Given the description of an element on the screen output the (x, y) to click on. 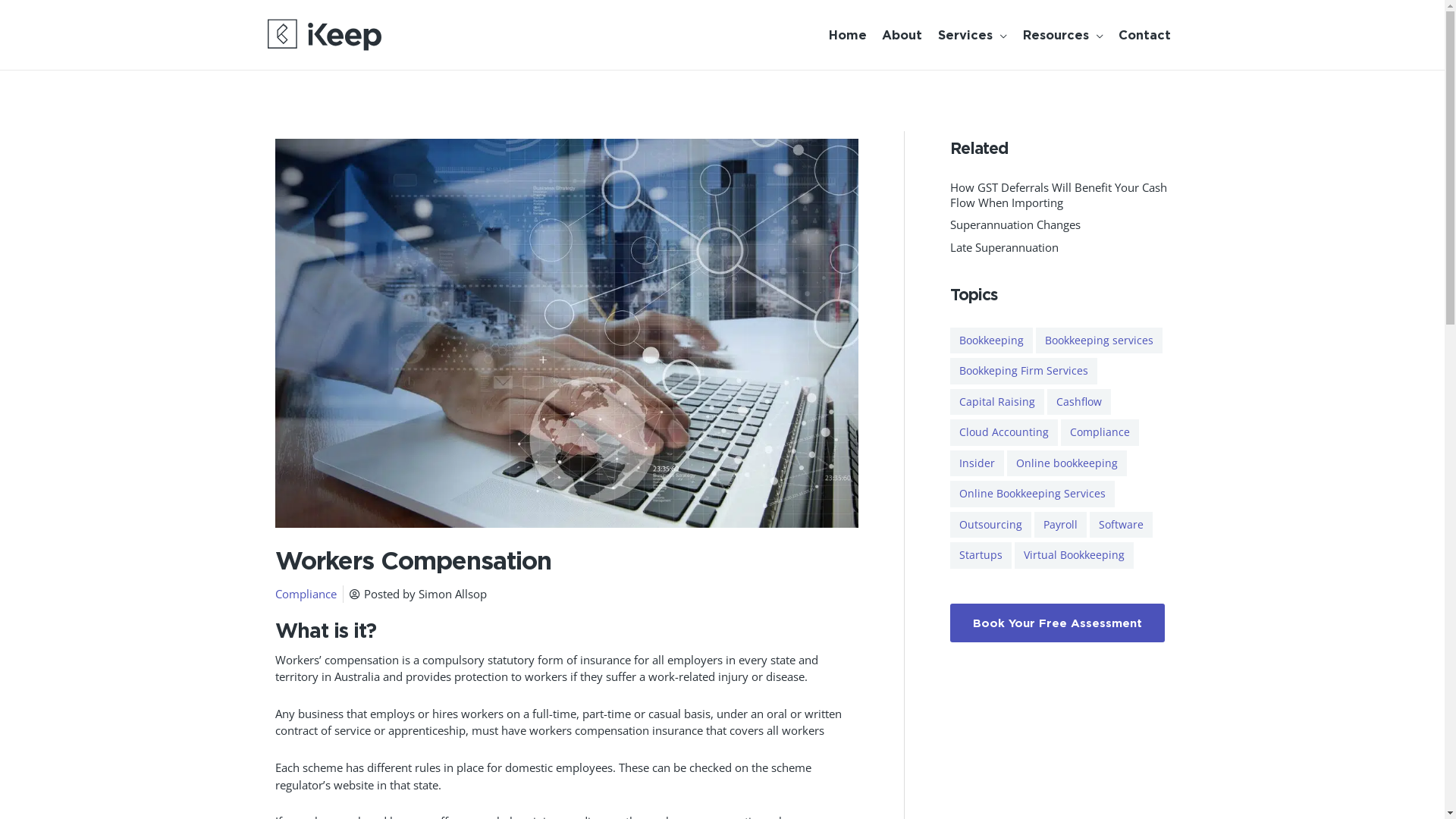
Online Bookkeeping Services Element type: text (1031, 493)
Book Your Free Assessment Element type: text (1056, 622)
About Element type: text (900, 34)
Compliance Element type: text (1099, 432)
Software Element type: text (1119, 524)
Bookkeping Firm Services Element type: text (1022, 370)
Capital Raising Element type: text (996, 402)
Services Element type: text (970, 34)
Bookkeeping services Element type: text (1098, 340)
Cashflow Element type: text (1078, 402)
Outsourcing Element type: text (989, 524)
Payroll Element type: text (1060, 524)
Insider Element type: text (976, 463)
Cloud Accounting Element type: text (1003, 432)
iKeep Bookkeeping | Workers Compensation Element type: hover (565, 331)
Late Superannuation Element type: text (1003, 246)
iKeep Bookkeeping Element type: hover (323, 34)
Superannuation Changes Element type: text (1014, 224)
Bookkeeping Element type: text (990, 340)
How GST Deferrals Will Benefit Your Cash Flow When Importing Element type: text (1057, 194)
Virtual Bookkeeping Element type: text (1073, 555)
Contact Element type: text (1143, 34)
Startups Element type: text (979, 555)
Resources Element type: text (1061, 34)
Compliance Element type: text (304, 593)
Home Element type: text (845, 34)
Online bookkeeping Element type: text (1066, 463)
